Given the description of an element on the screen output the (x, y) to click on. 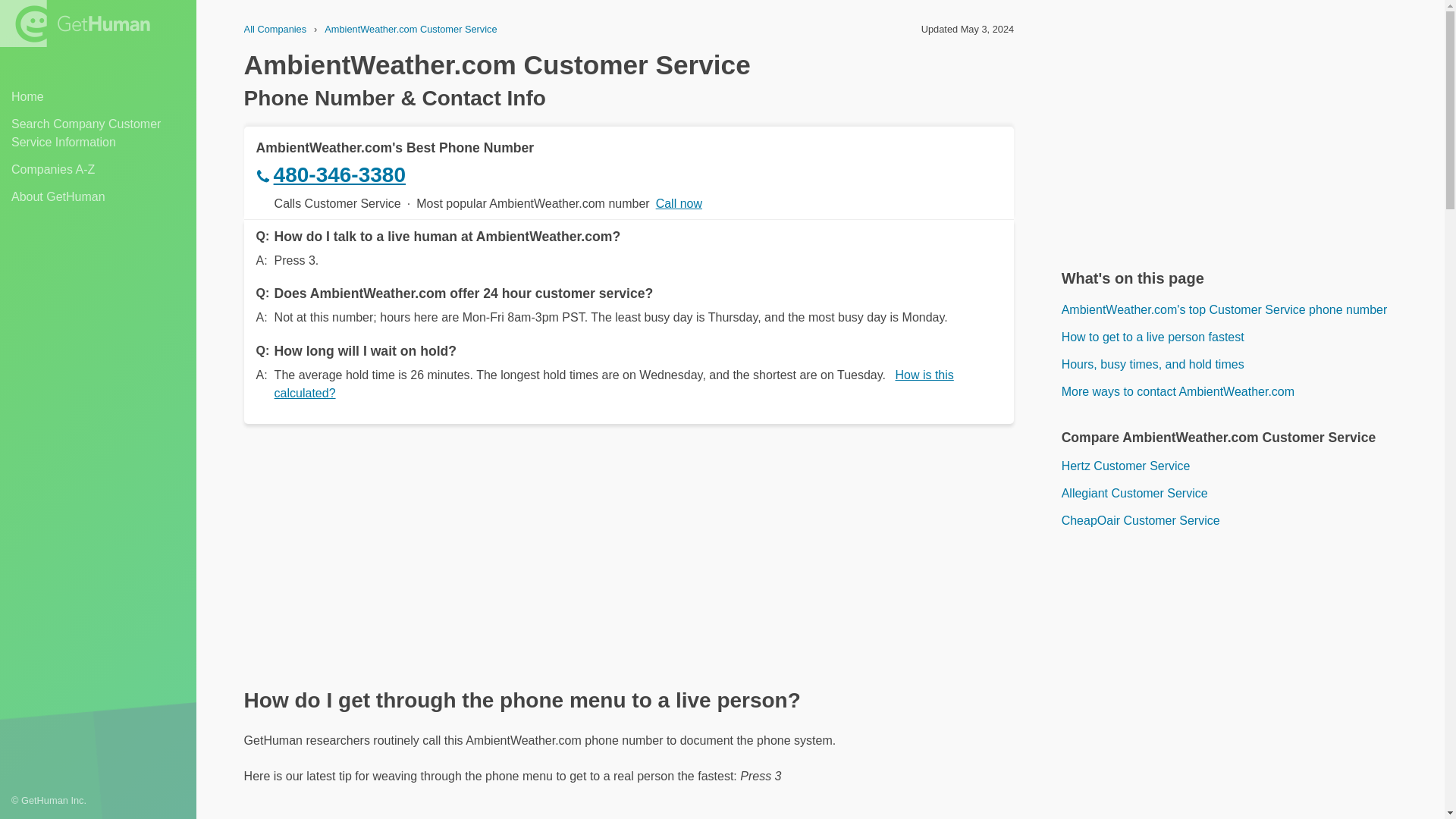
Home (97, 96)
Search Company Customer Service Information (97, 133)
How is this calculated? (614, 383)
Hours, busy times, and hold times (1238, 364)
CheapOair Customer Service (1238, 520)
Allegiant Customer Service (1238, 493)
GetHuman (74, 23)
Call now (678, 203)
AmbientWeather.com's top Customer Service phone number (1238, 310)
All Companies (275, 29)
AmbientWeather.com Customer Service (410, 29)
Advertisement (1238, 688)
480-346-3380 (629, 175)
